Given the description of an element on the screen output the (x, y) to click on. 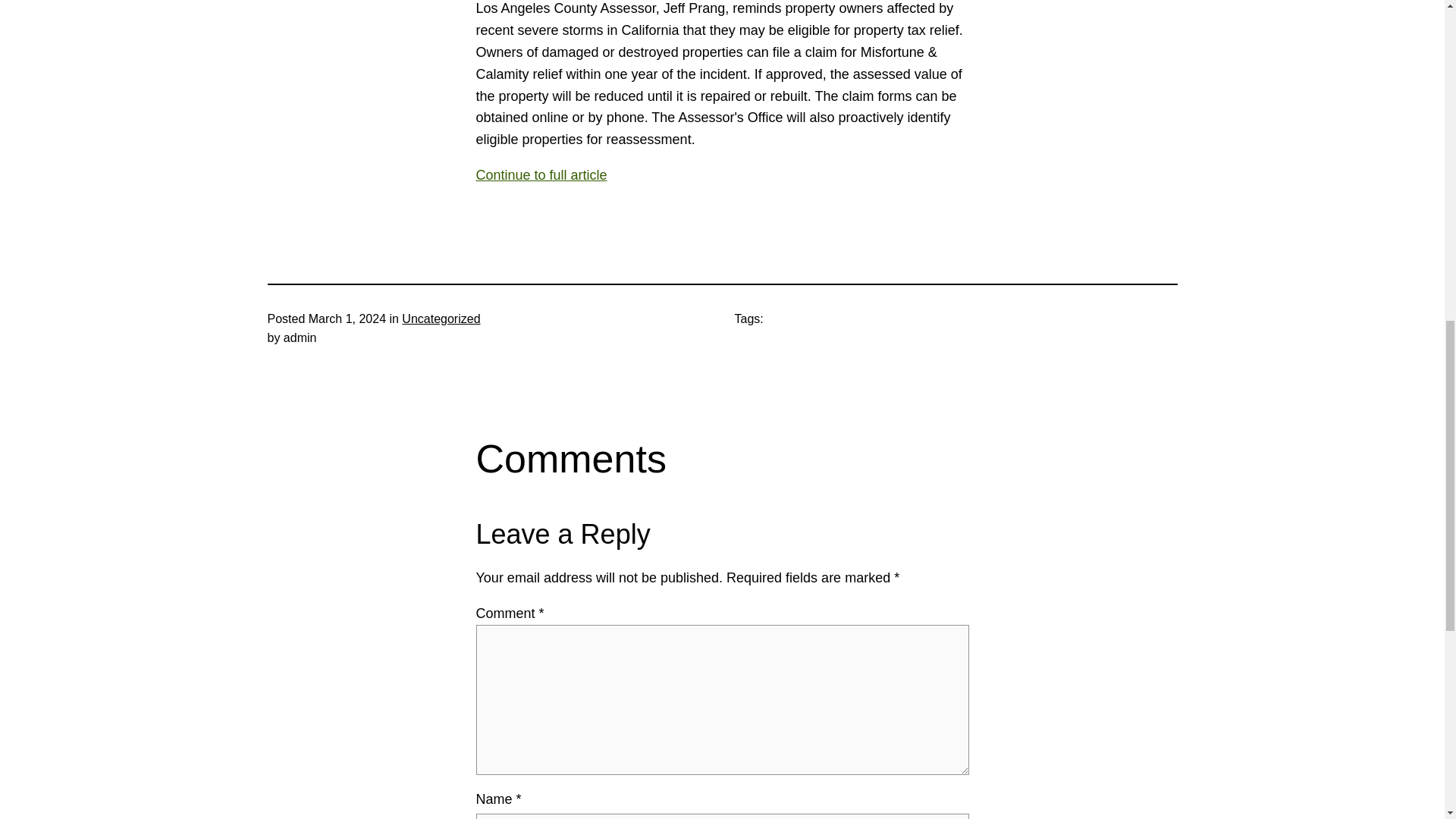
Uncategorized (440, 318)
Continue to full article (722, 175)
